Given the description of an element on the screen output the (x, y) to click on. 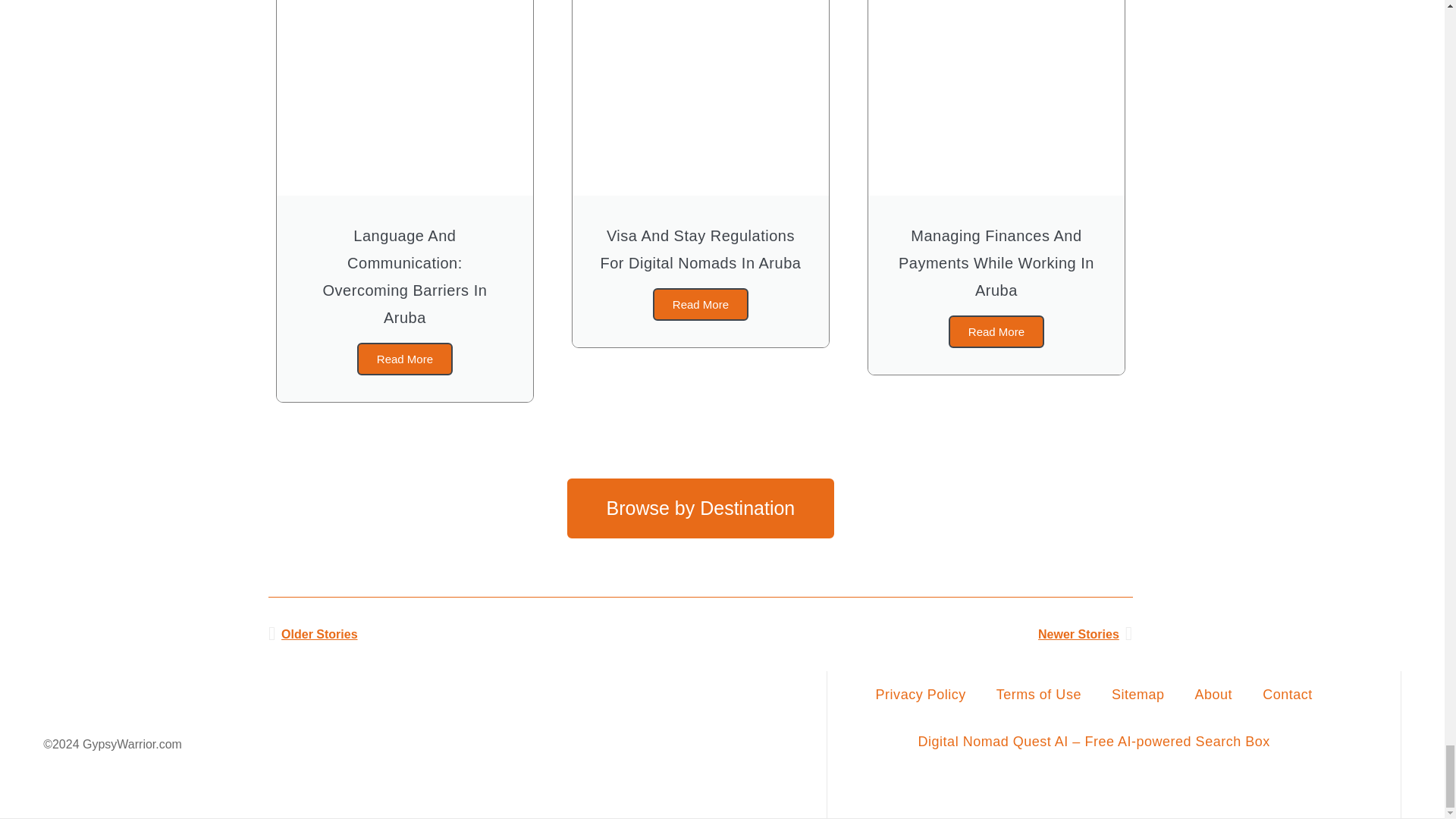
Newer Stories (916, 634)
About (1213, 694)
Read More (996, 331)
Contact (1287, 694)
Read More (700, 304)
Read More (404, 359)
Browse by Destination (700, 508)
Privacy Policy (920, 694)
Older Stories (483, 634)
Sitemap (1137, 694)
